Given the description of an element on the screen output the (x, y) to click on. 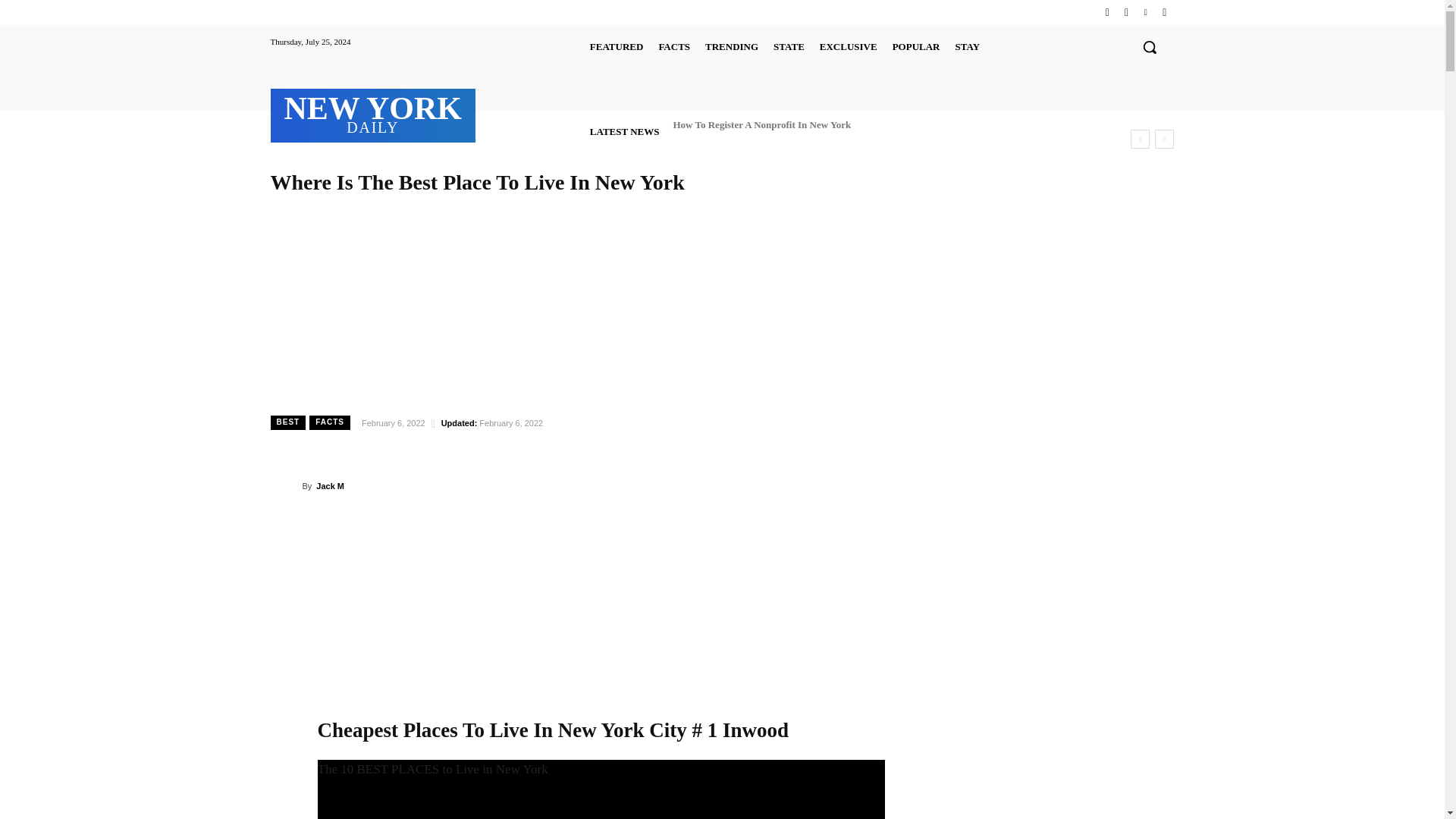
Facebook (1106, 12)
